Given the description of an element on the screen output the (x, y) to click on. 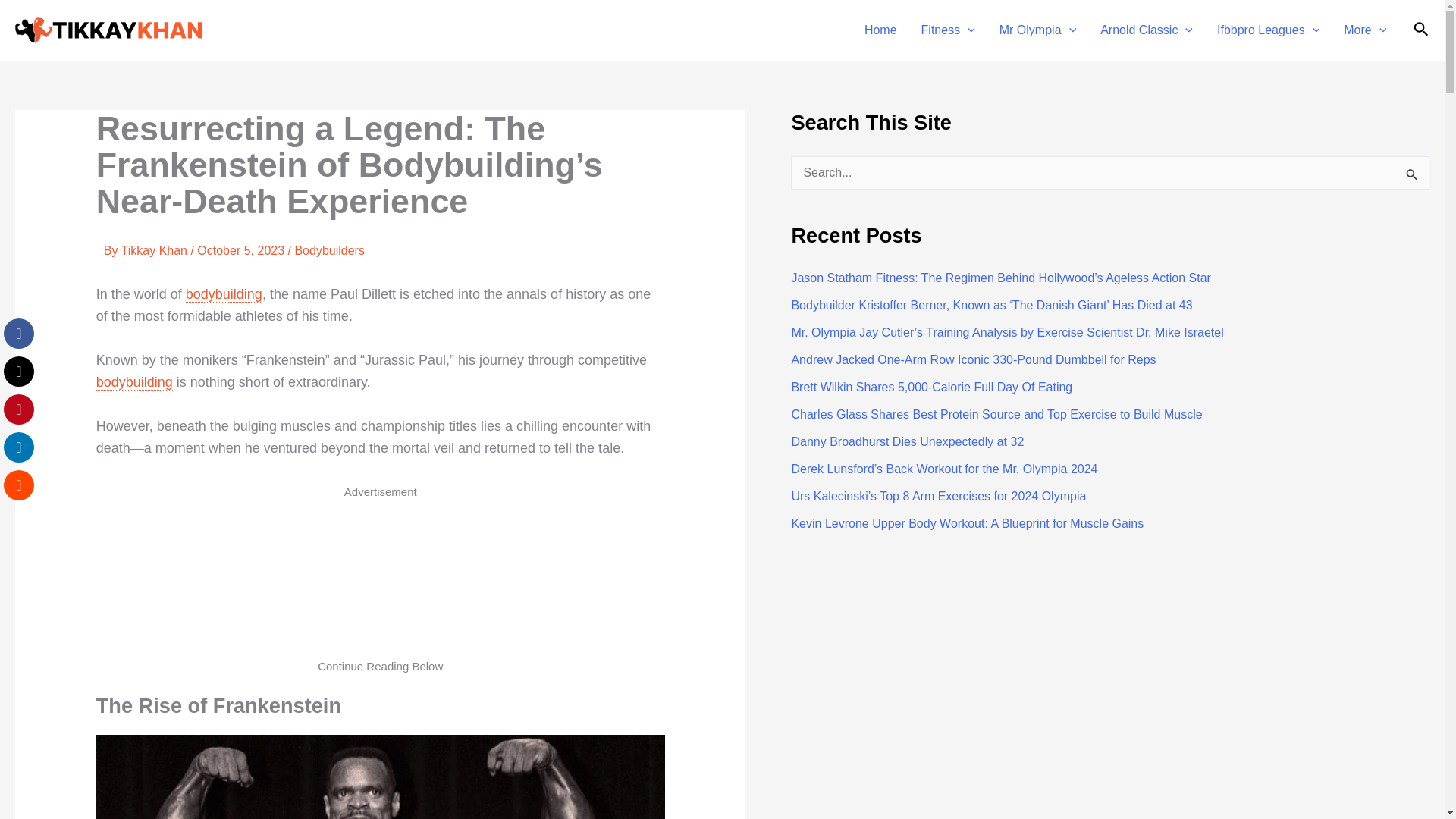
Mr Olympia (1037, 30)
Fitness (947, 30)
More (1364, 30)
Advertisement (380, 584)
Arnold Classic (1146, 30)
View all posts by Tikkay Khan (155, 250)
Ifbbpro Leagues (1268, 30)
Home (879, 30)
